Given the description of an element on the screen output the (x, y) to click on. 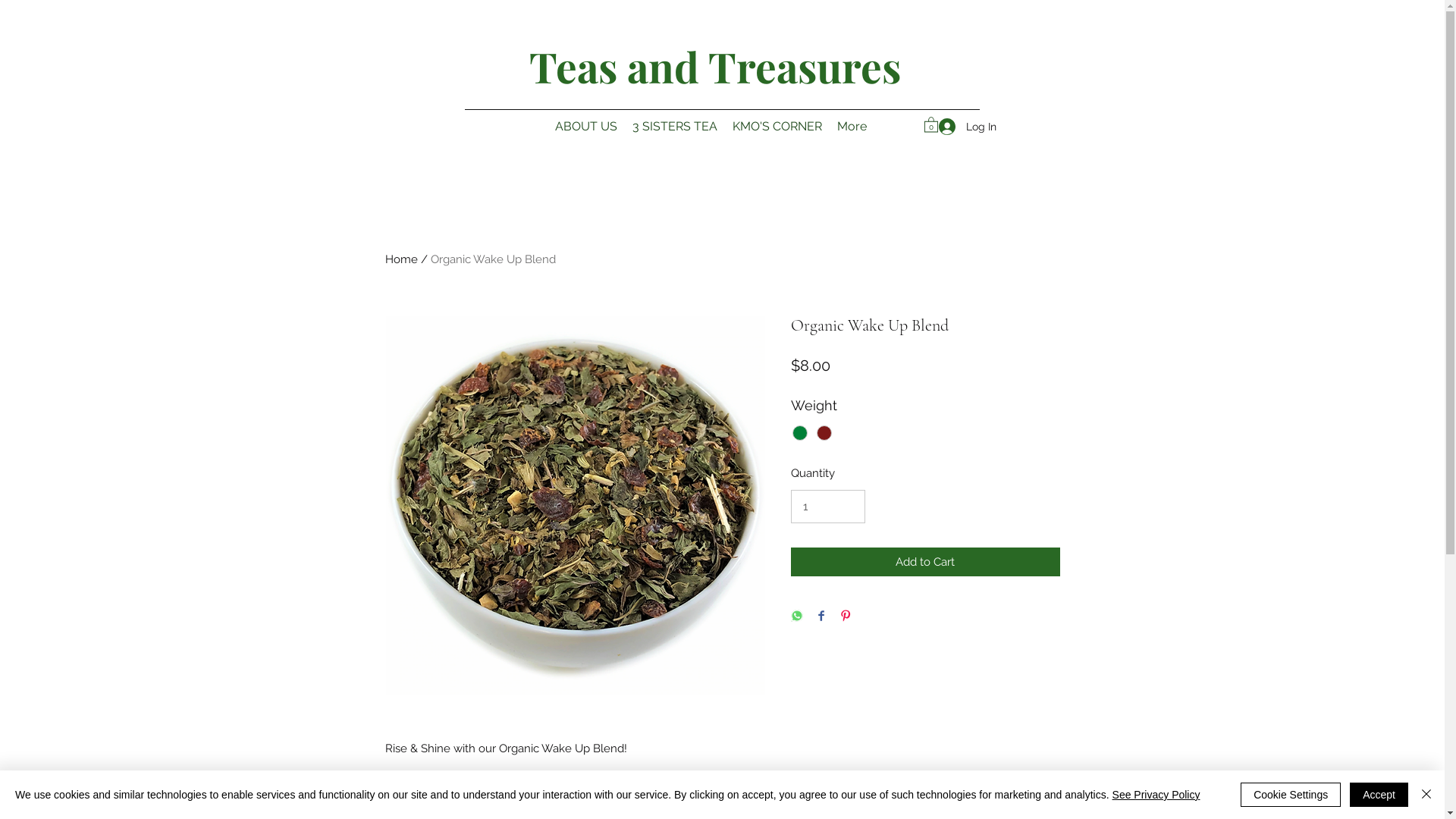
ABOUT US Element type: text (585, 126)
Log In Element type: text (962, 126)
Home Element type: text (401, 259)
Organic Wake Up Blend Element type: text (492, 259)
3 SISTERS TEA Element type: text (674, 126)
See Privacy Policy Element type: text (1156, 794)
Accept Element type: text (1378, 794)
Cookie Settings Element type: text (1290, 794)
0 Element type: text (930, 123)
Add to Cart Element type: text (924, 562)
KMO'S CORNER Element type: text (776, 126)
